Given the description of an element on the screen output the (x, y) to click on. 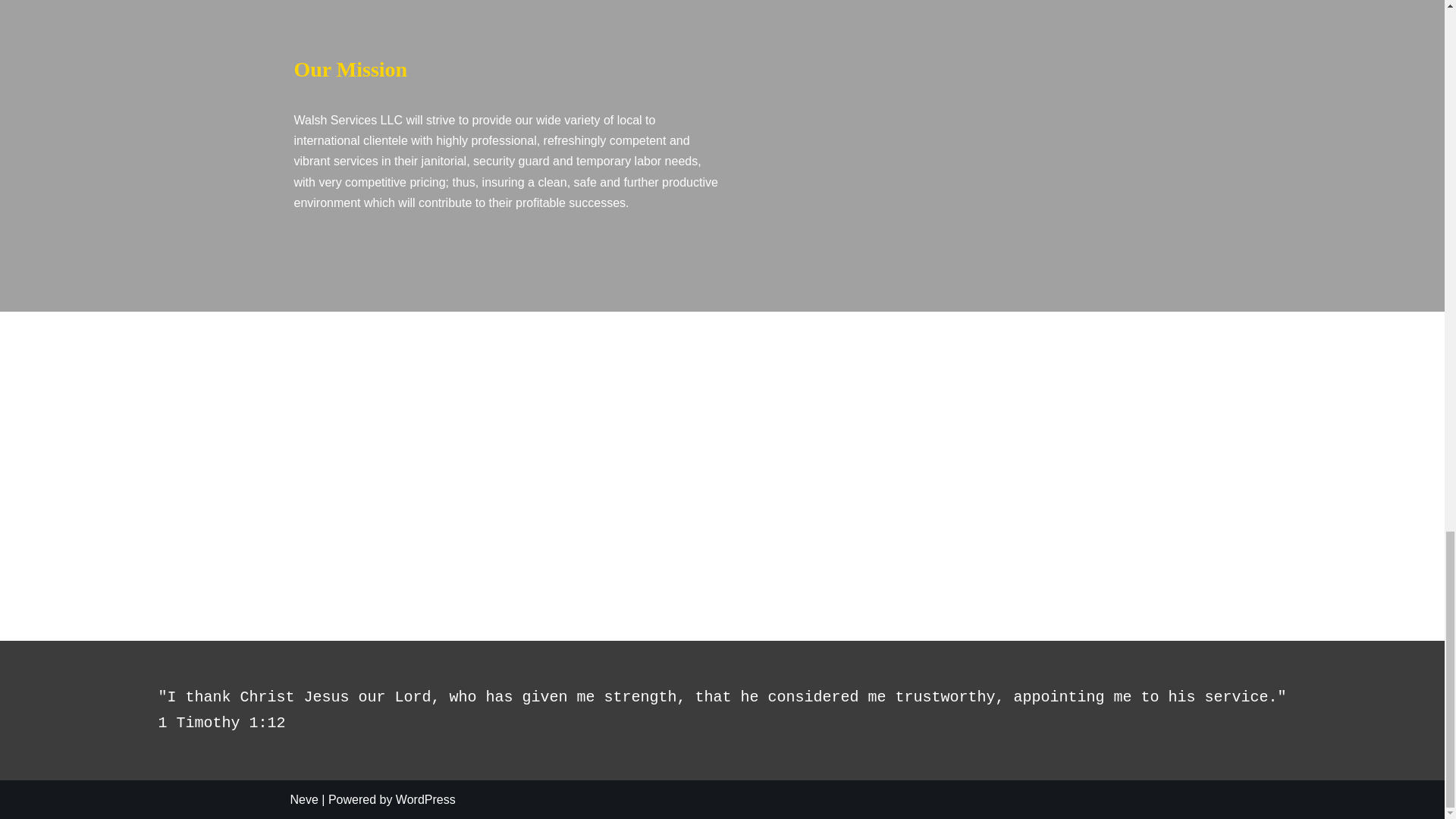
Neve (303, 799)
WordPress (425, 799)
WALSH Services 3 (232, 439)
WALSH Services 7 (1072, 481)
WALSH Services 5 (722, 459)
